Given the description of an element on the screen output the (x, y) to click on. 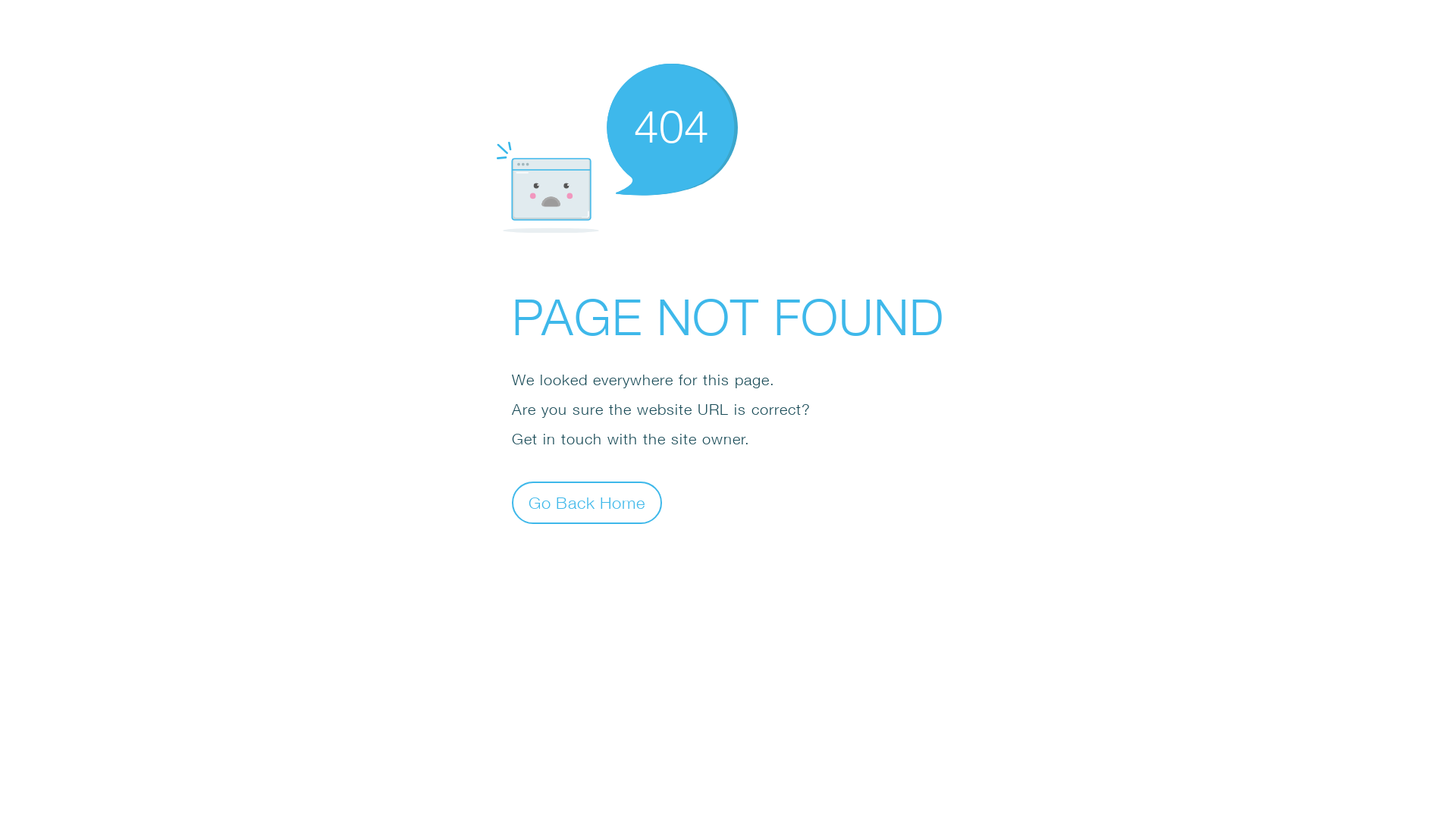
Go Back Home Element type: text (586, 502)
